Given the description of an element on the screen output the (x, y) to click on. 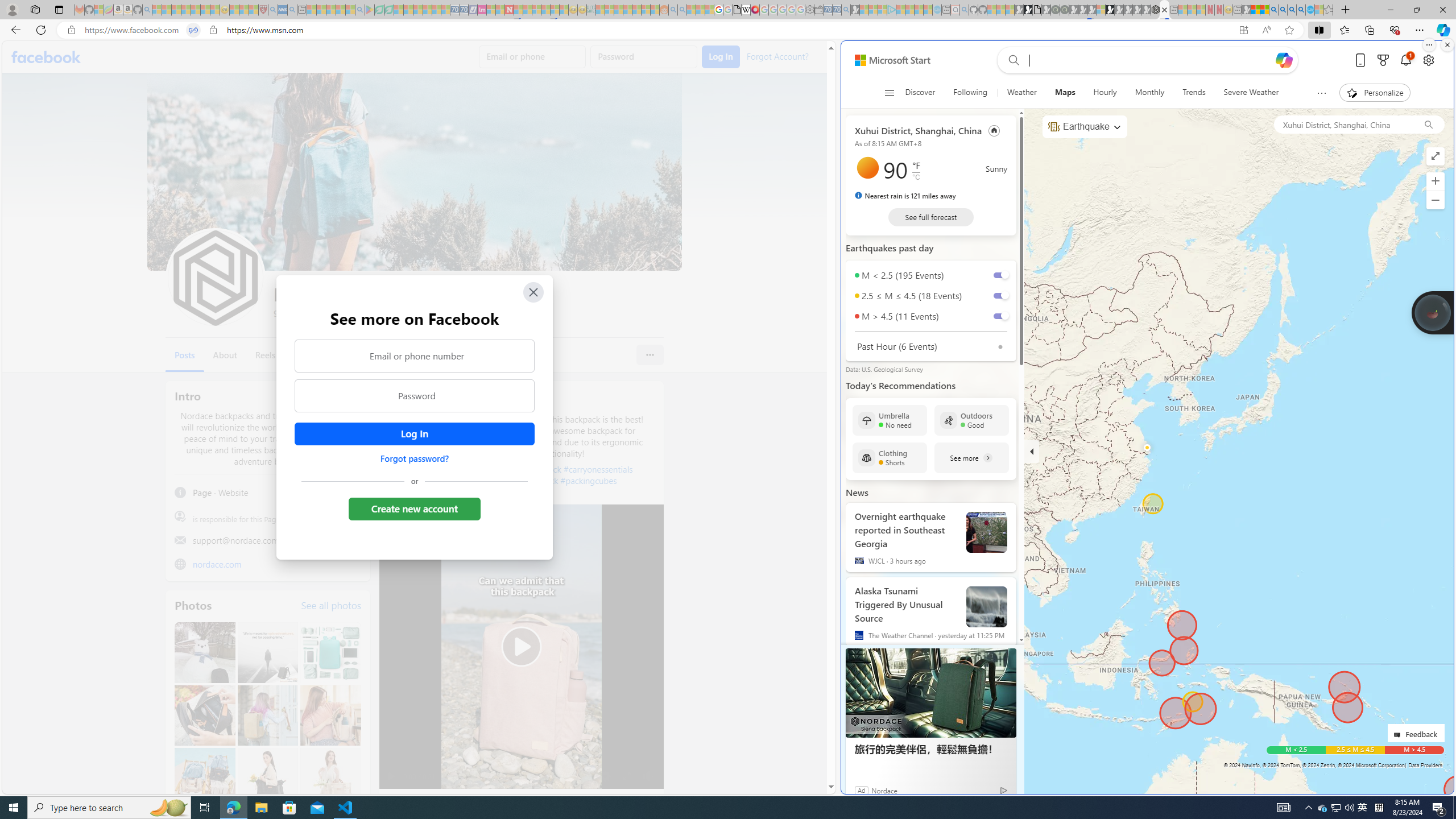
Future Focus Report 2024 - Sleeping (1064, 9)
Pets - MSN - Sleeping (340, 9)
Maps (1064, 92)
Feedback (1415, 732)
Following (970, 92)
Restore (1416, 9)
Earthquake (1084, 126)
Favorites - Sleeping (1328, 9)
Zoom out (1435, 199)
